Given the description of an element on the screen output the (x, y) to click on. 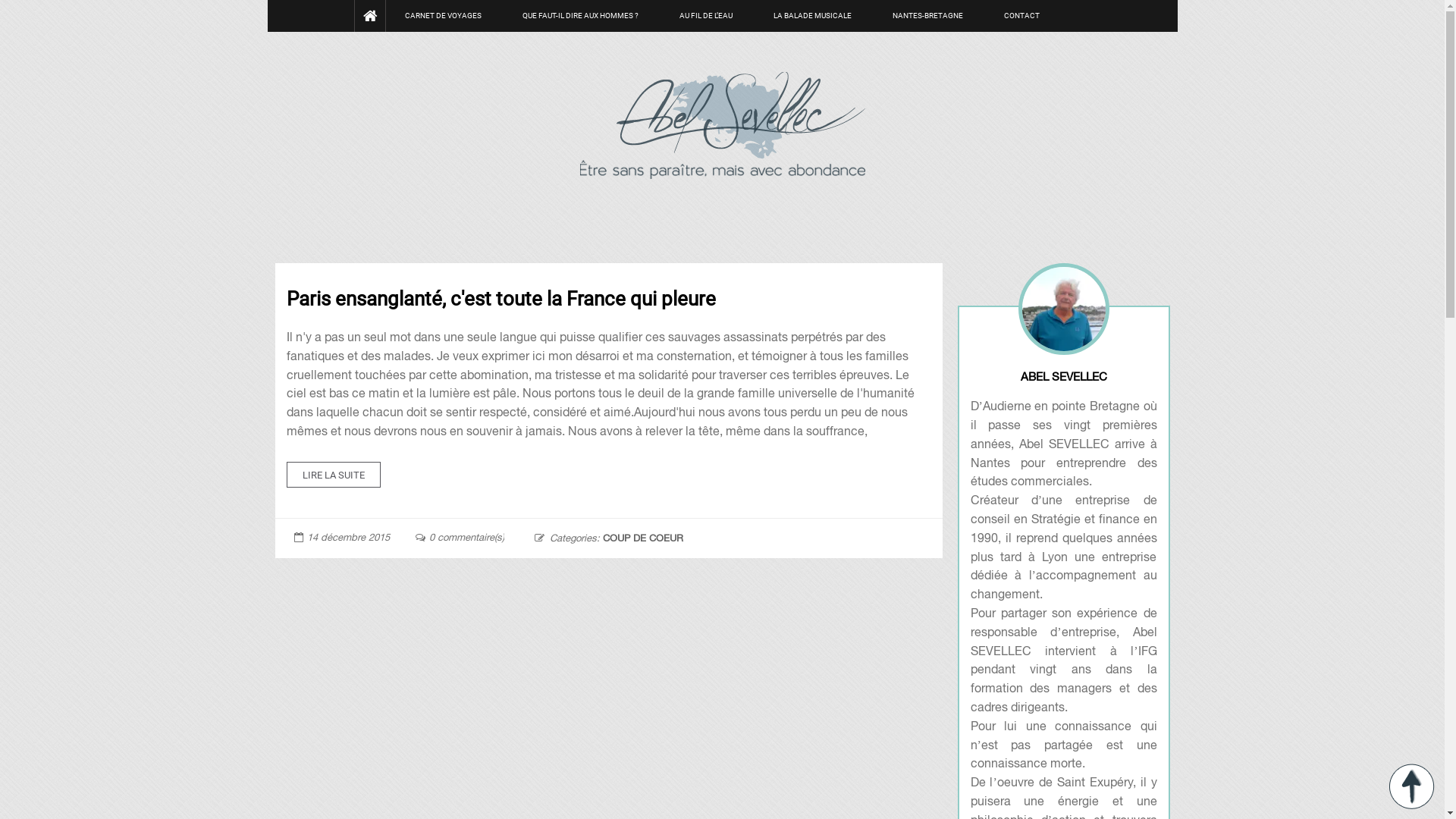
CONTACT Element type: text (1021, 15)
NANTES-BRETAGNE Element type: text (927, 15)
CARNET DE VOYAGES Element type: text (442, 15)
Back to Top Element type: hover (1411, 786)
COUP DE COEUR Element type: text (642, 537)
QUE FAUT-IL DIRE AUX HOMMES ? Element type: text (580, 15)
LIRE LA SUITE Element type: text (333, 474)
LA BALADE MUSICALE Element type: text (812, 15)
Default Element type: hover (722, 124)
